Given the description of an element on the screen output the (x, y) to click on. 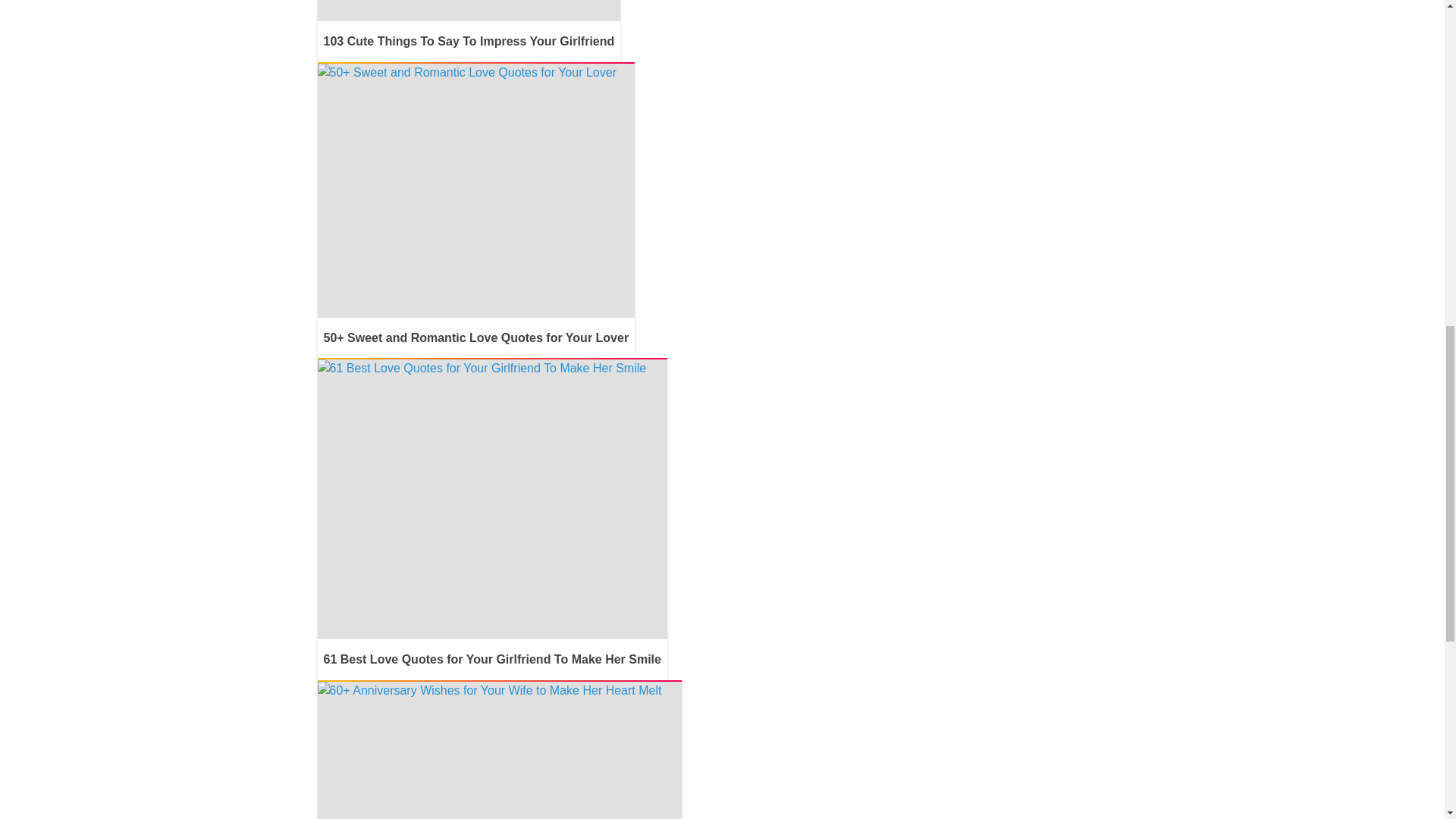
103 Cute Things To Say To Impress Your Girlfriend (468, 30)
61 Best Love Quotes for Your Girlfriend To Make Her Smile (491, 519)
